Given the description of an element on the screen output the (x, y) to click on. 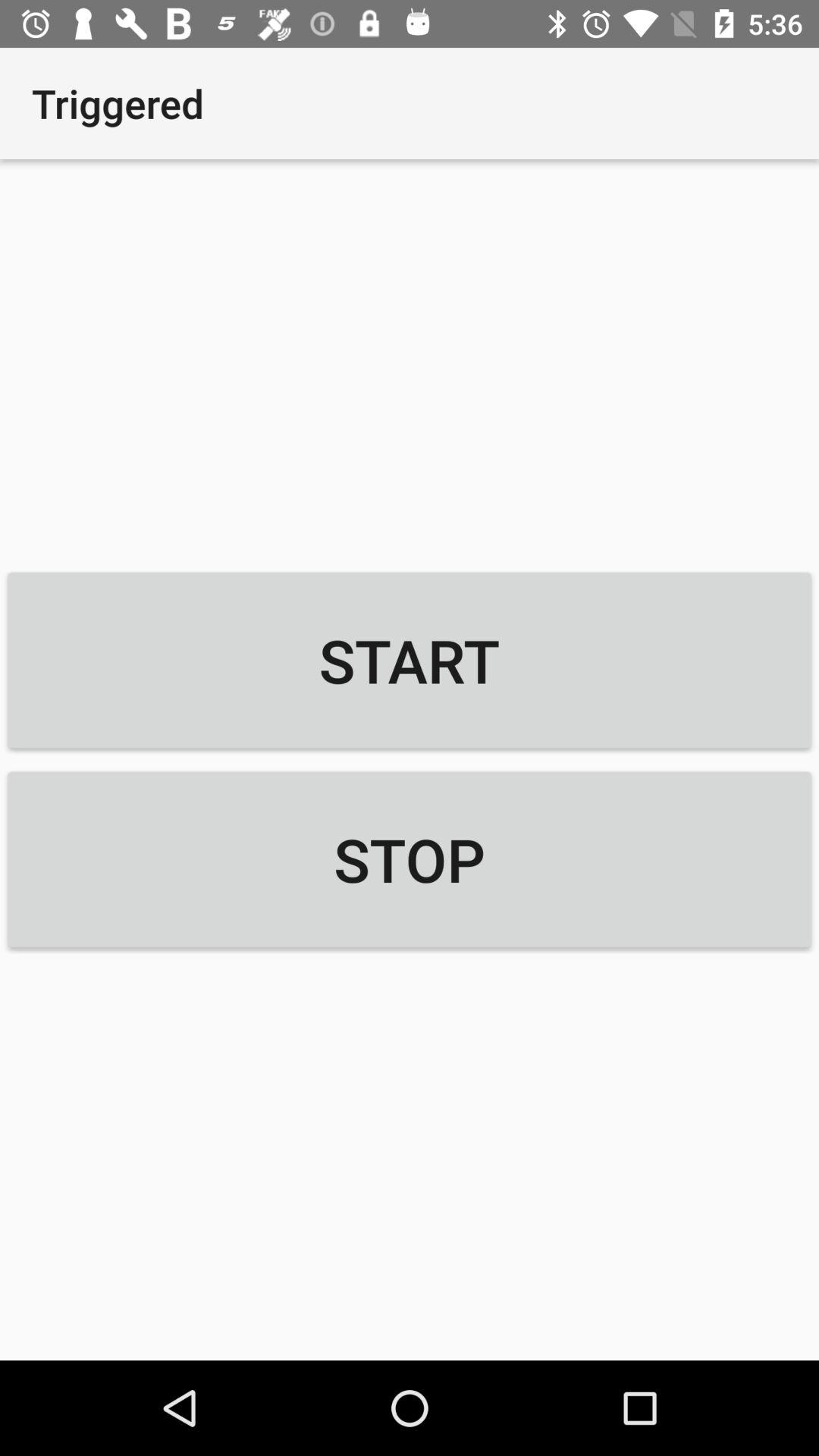
choose the item below start item (409, 858)
